Given the description of an element on the screen output the (x, y) to click on. 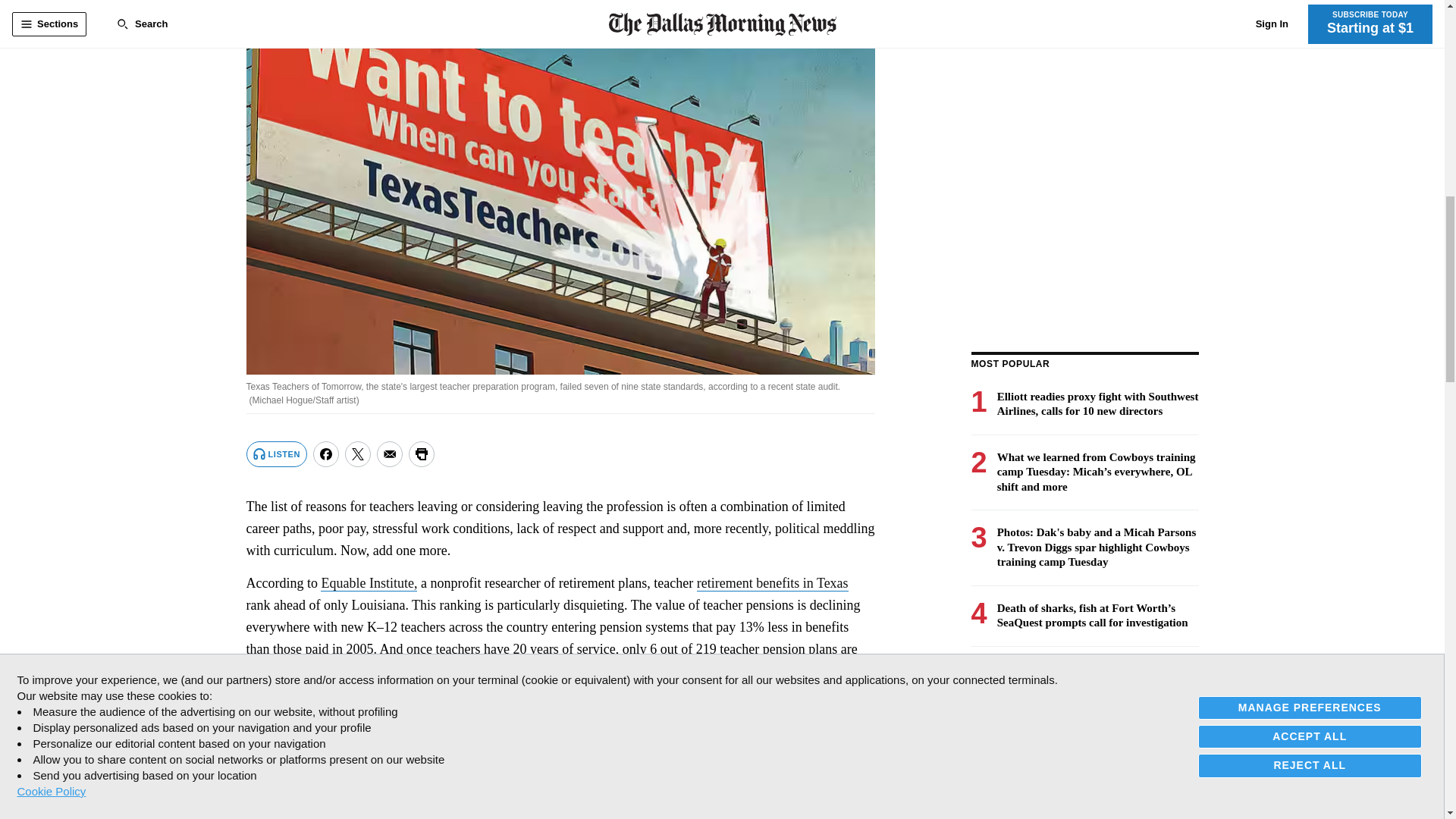
Print (421, 453)
Share on Facebook (326, 453)
Share on Twitter (358, 453)
Share via Email (390, 453)
